Given the description of an element on the screen output the (x, y) to click on. 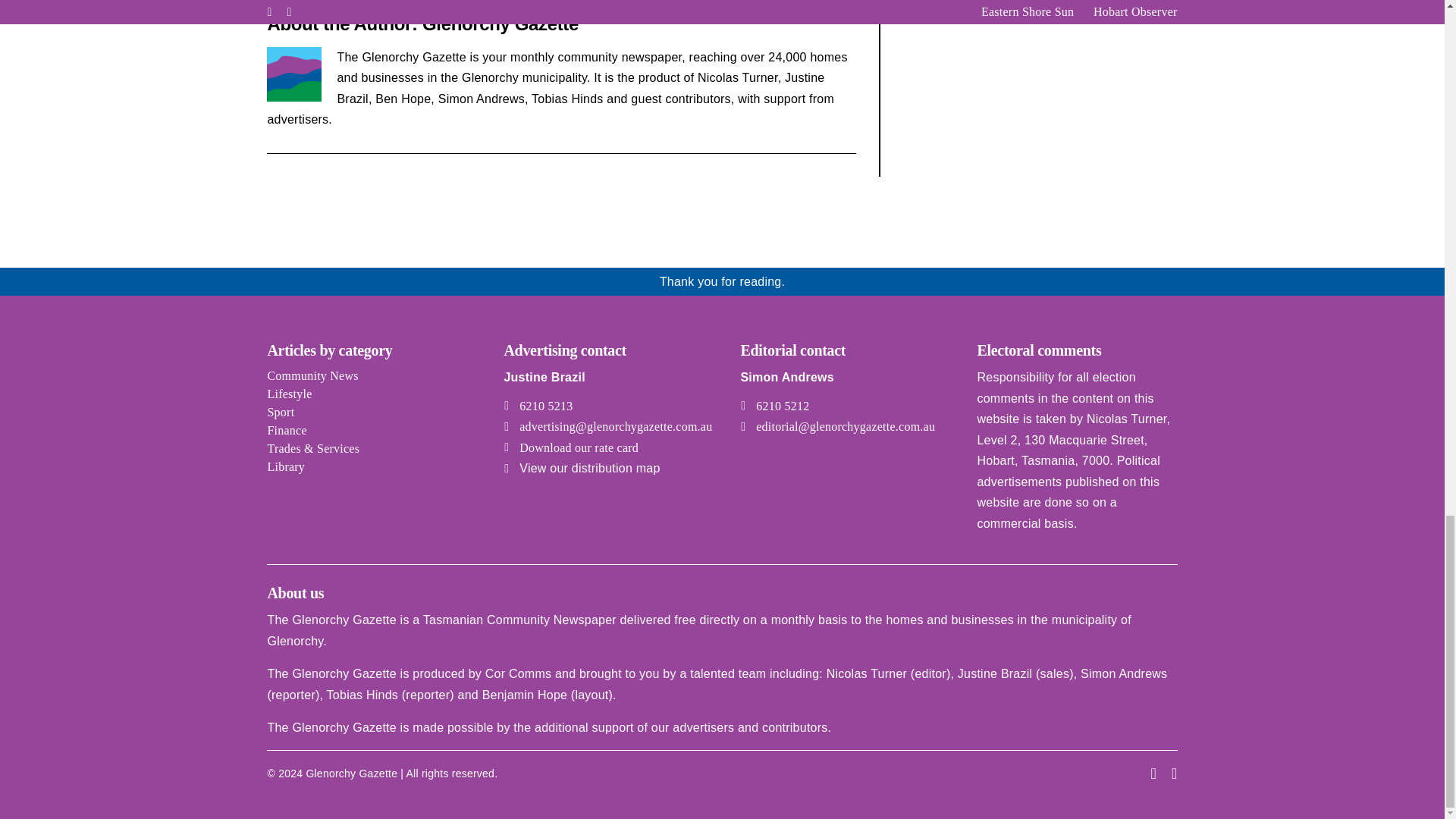
Glenorchy Gazette (500, 23)
